Given the description of an element on the screen output the (x, y) to click on. 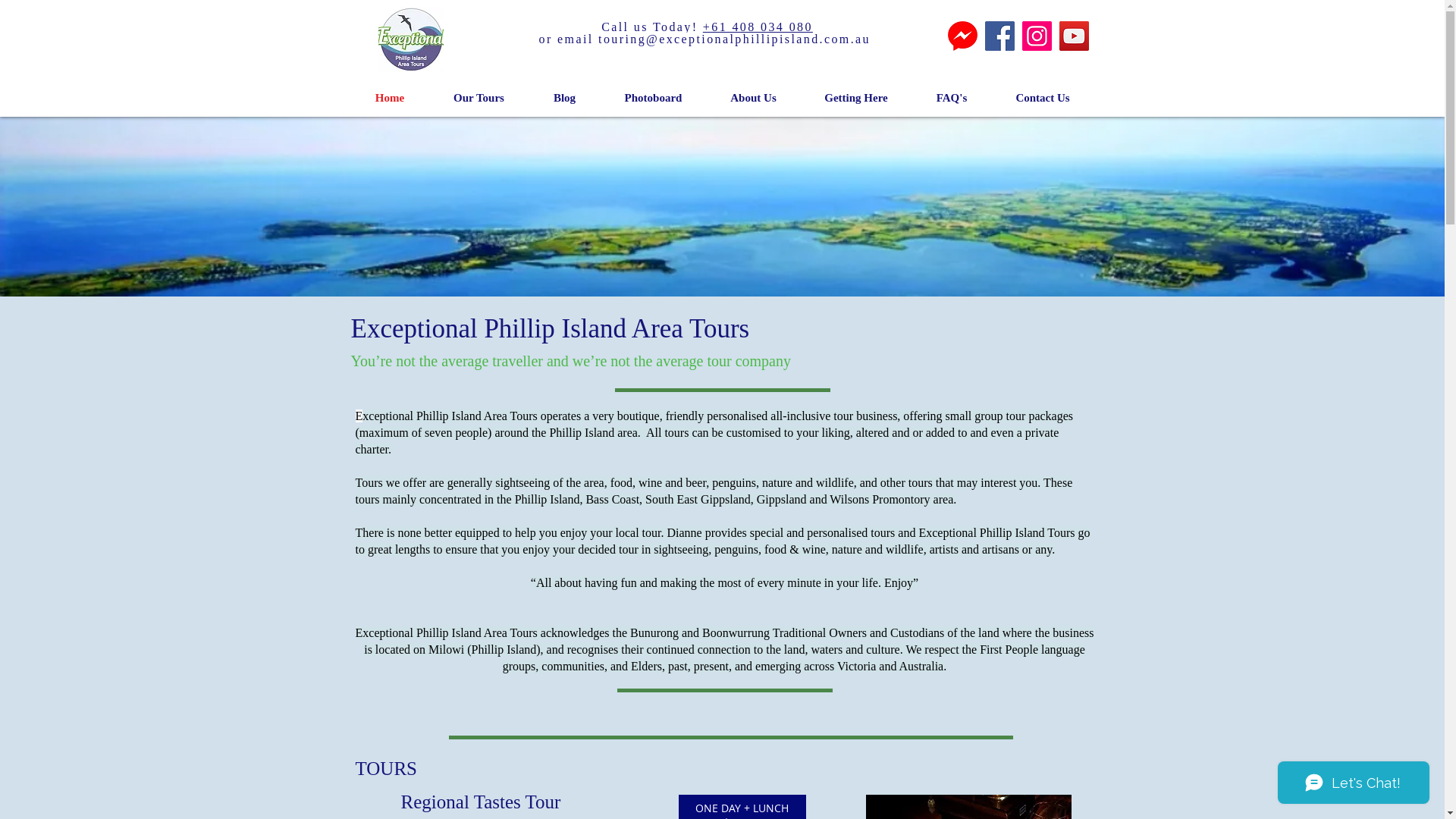
Contact Us Element type: text (1042, 97)
Our Tours Element type: text (479, 97)
+61 408 034 080 Element type: text (757, 26)
Home Element type: text (389, 97)
Regional Tastes Tour Element type: text (481, 800)
FAQ's Element type: text (951, 97)
touring@exceptionalphillipisland.com.au Element type: text (734, 38)
Getting Here Element type: text (856, 97)
About Us Element type: text (753, 97)
Photoboard Element type: text (653, 97)
Blog Element type: text (564, 97)
